Given the description of an element on the screen output the (x, y) to click on. 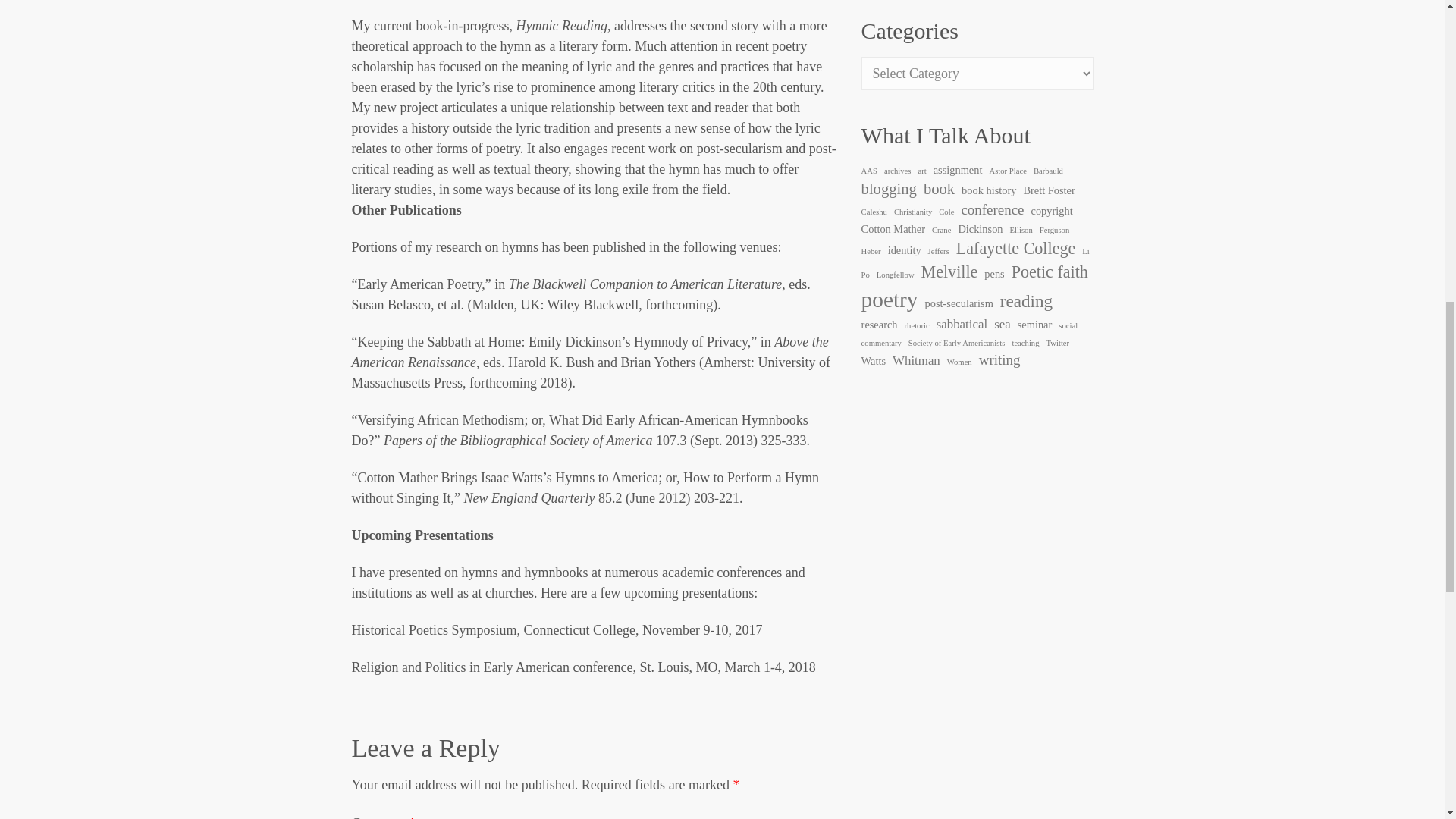
Christianity (912, 211)
Caleshu (873, 211)
archives (897, 170)
book history (988, 189)
Barbauld (1047, 170)
blogging (889, 188)
book (939, 188)
Astor Place (1007, 170)
assignment (957, 169)
Brett Foster (1048, 189)
